Given the description of an element on the screen output the (x, y) to click on. 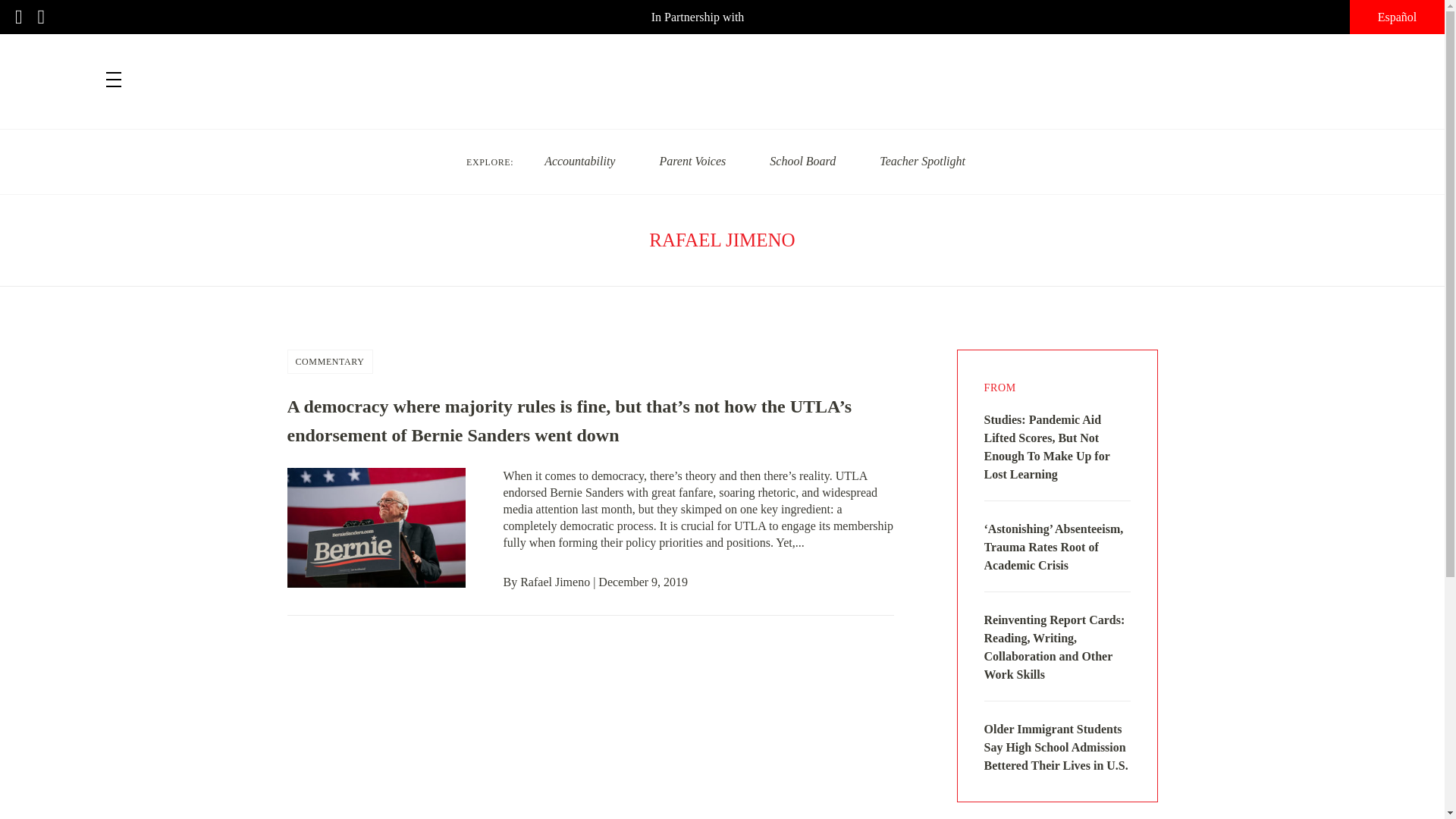
In Partnership with 74 (721, 16)
COMMENTARY (330, 361)
Accountability (579, 160)
Teacher Spotlight (922, 160)
School Board (802, 160)
Rafael Jimeno (554, 581)
By (512, 581)
LA School Report (721, 71)
